Given the description of an element on the screen output the (x, y) to click on. 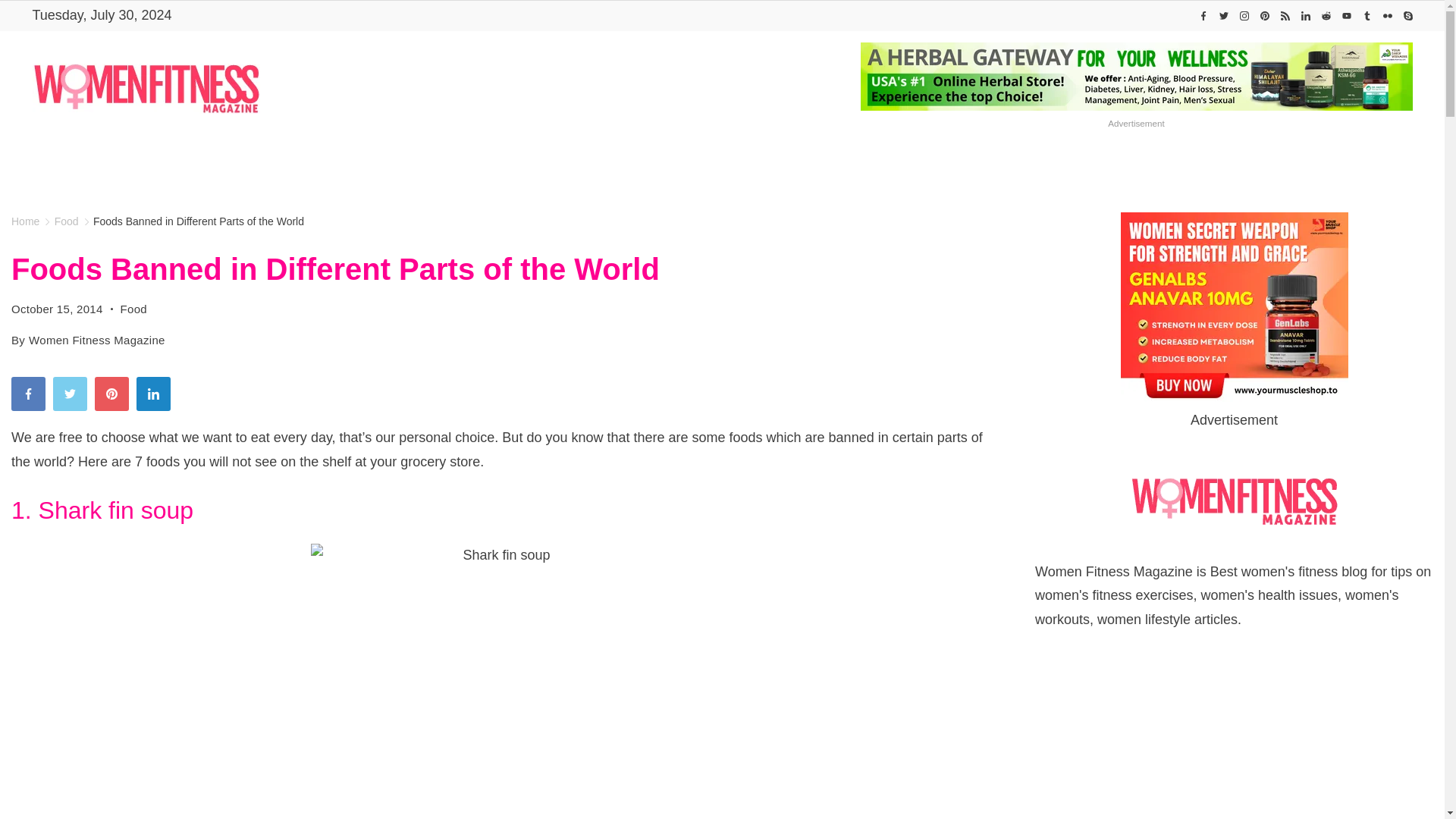
Women Fitness Magazine  (415, 165)
Home (415, 165)
